Given the description of an element on the screen output the (x, y) to click on. 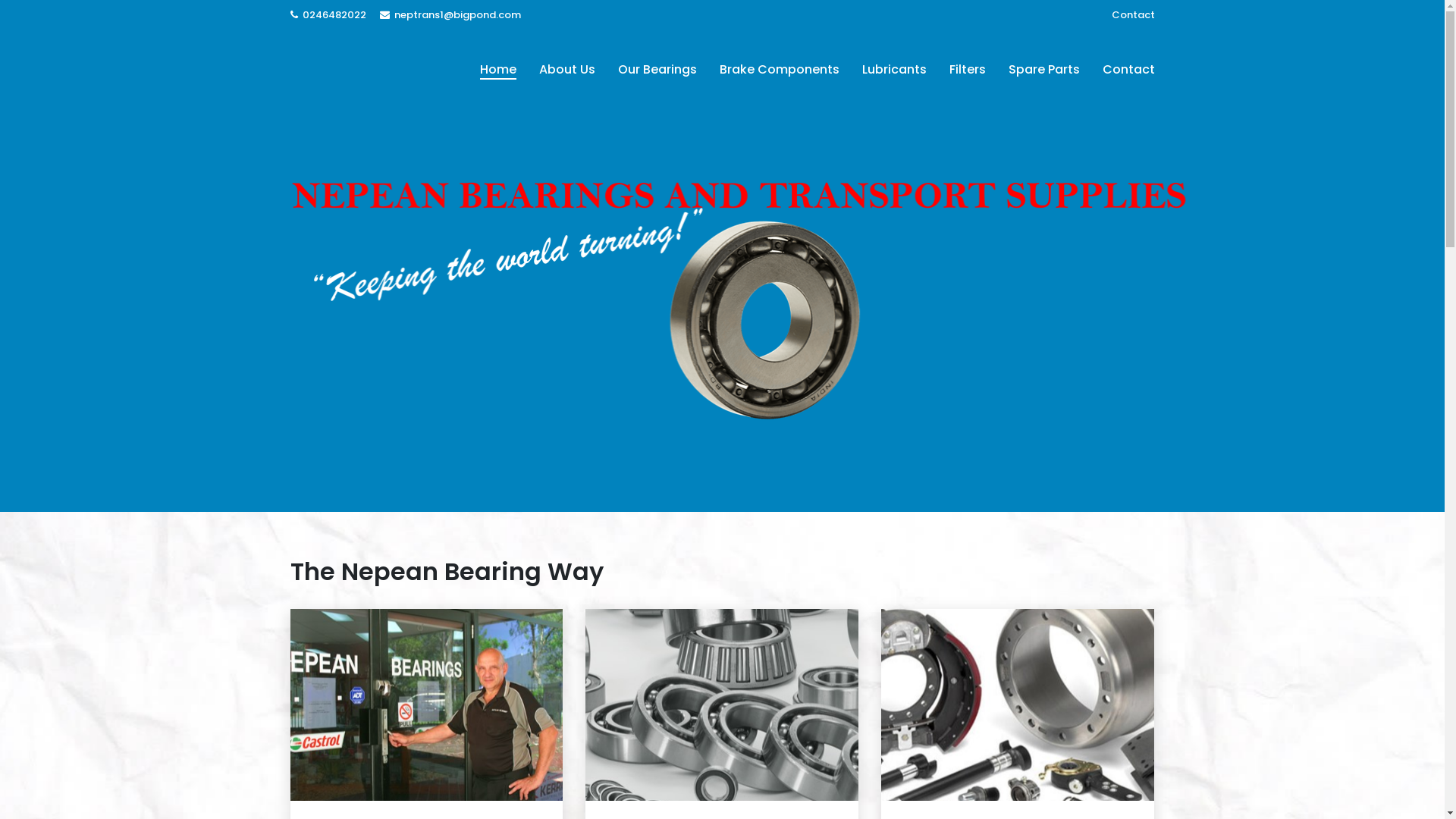
Lubricants Element type: text (894, 69)
  neptrans1@bigpond.com Element type: text (449, 14)
Contact Element type: text (1132, 14)
  0246482022 Element type: text (328, 14)
Brake Components Element type: text (779, 69)
Filters Element type: text (966, 69)
Spare Parts Element type: text (1043, 69)
Our Bearings Element type: text (657, 69)
About Us Element type: text (566, 69)
Contact Element type: text (1127, 69)
Home Element type: text (497, 69)
